Given the description of an element on the screen output the (x, y) to click on. 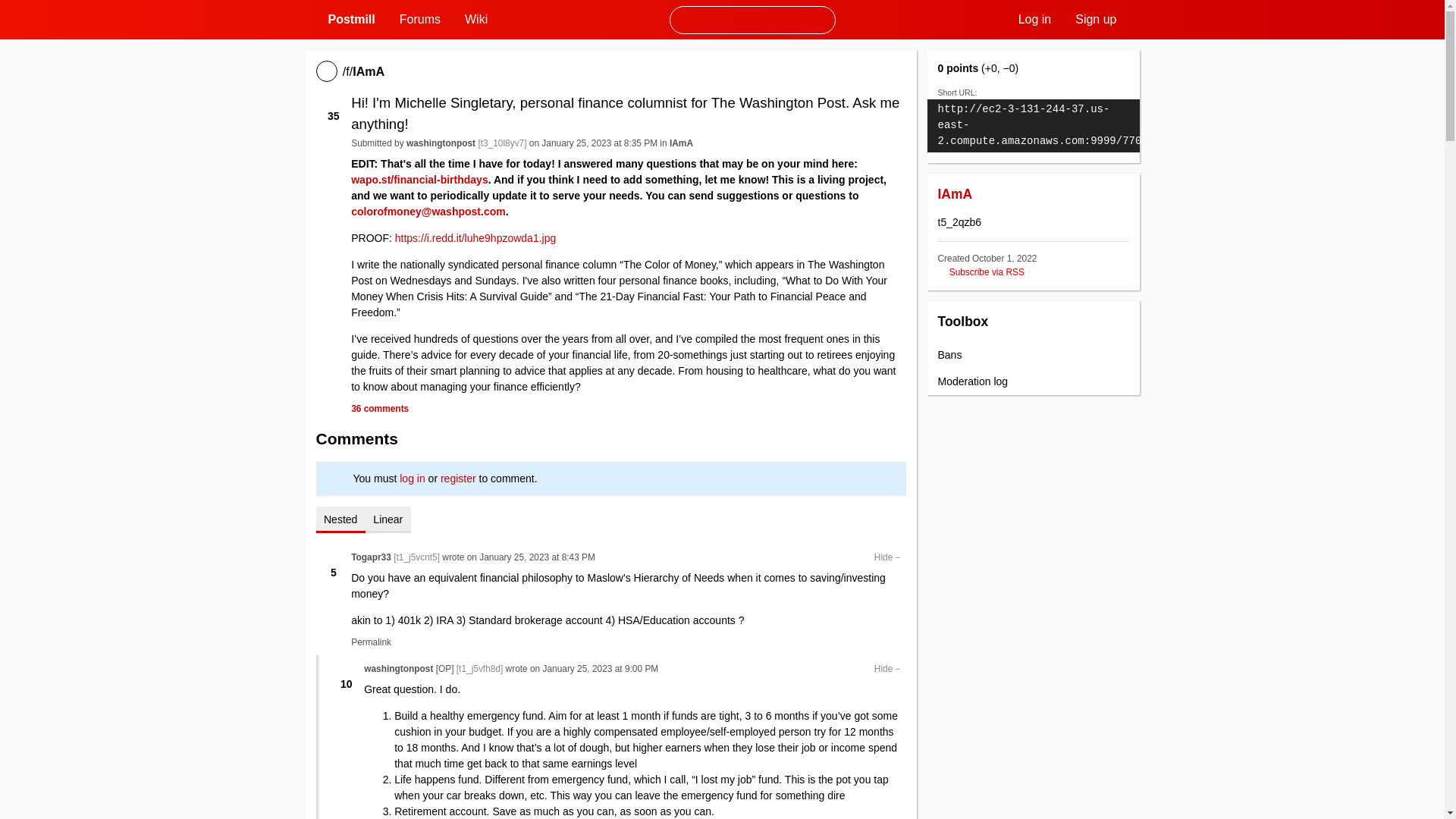
Forums (419, 19)
1 (334, 559)
washingtonpost (441, 143)
36 comments (379, 408)
Upvote (346, 670)
Permalink (370, 642)
log in (411, 478)
Original poster (444, 668)
Togapr33 (370, 557)
-1 (334, 129)
